Given the description of an element on the screen output the (x, y) to click on. 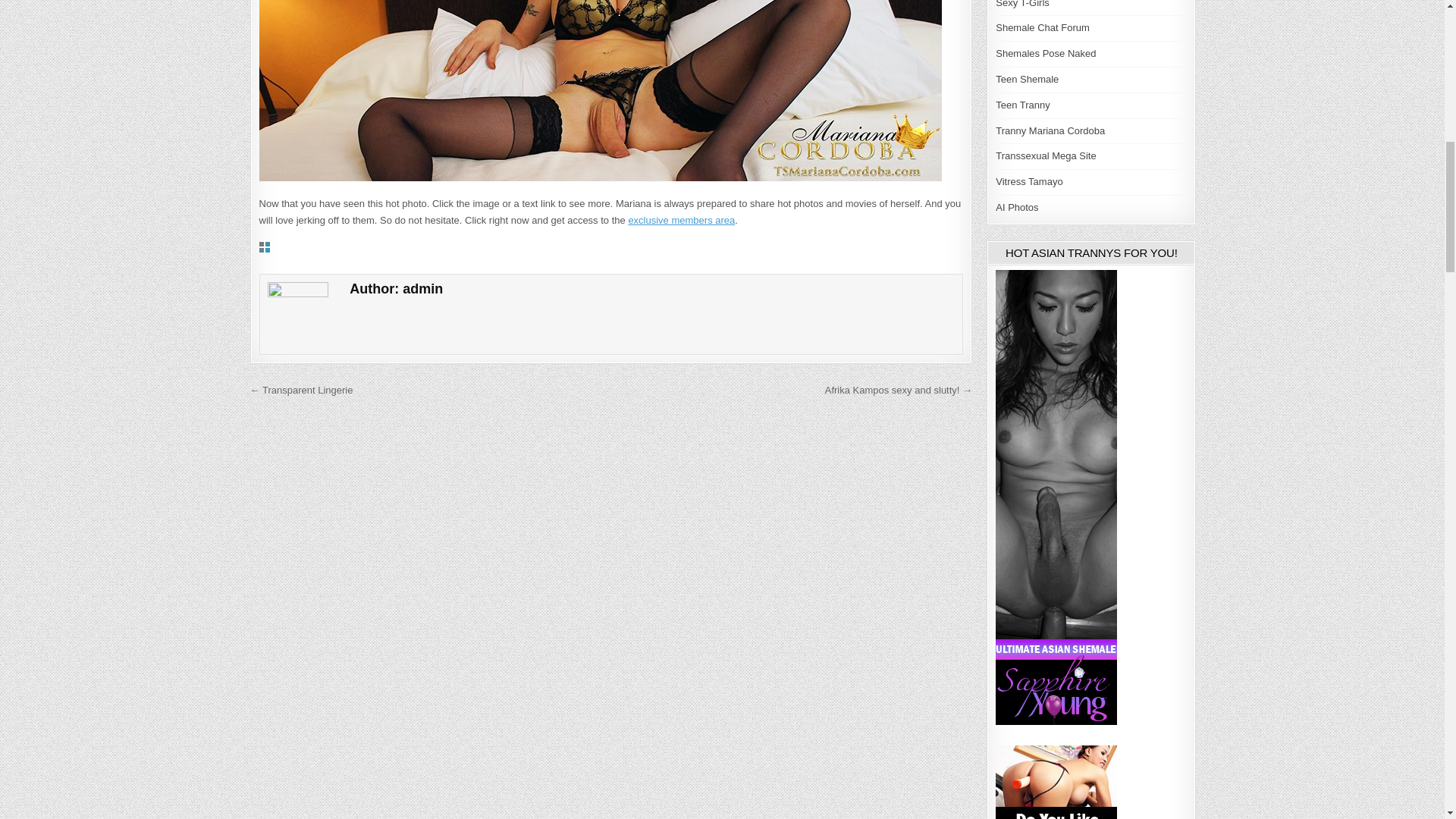
Sexy T-Girls (1022, 4)
exclusive members area (681, 220)
Shemale Chat Forum (1042, 27)
